Given the description of an element on the screen output the (x, y) to click on. 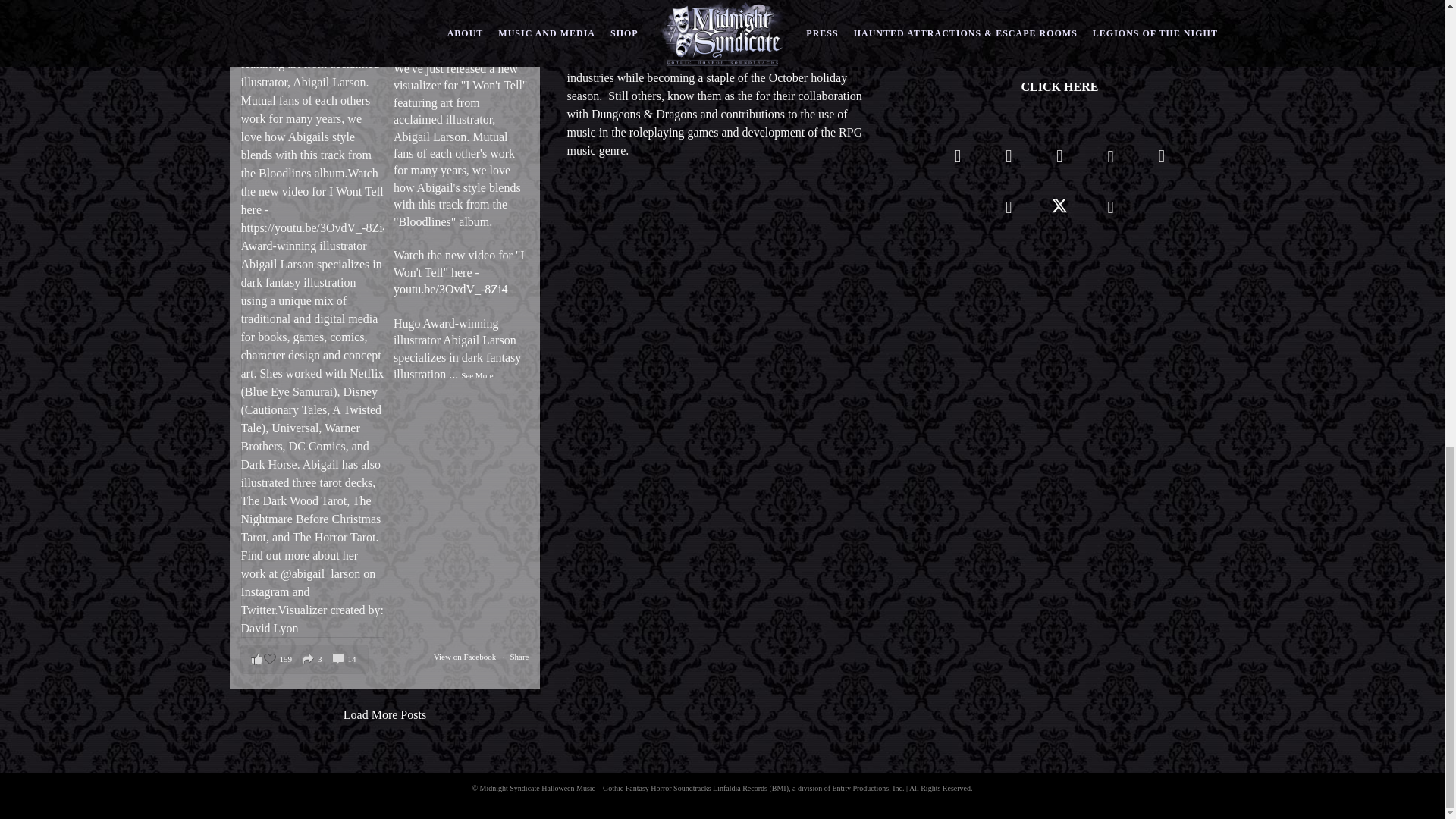
spotify (1059, 160)
youtube (1110, 165)
Share (518, 655)
apple (1008, 211)
instagram (1008, 160)
amazon (1160, 160)
email (1109, 211)
facebook (957, 160)
View on Facebook (465, 655)
twitter (1059, 211)
